Given the description of an element on the screen output the (x, y) to click on. 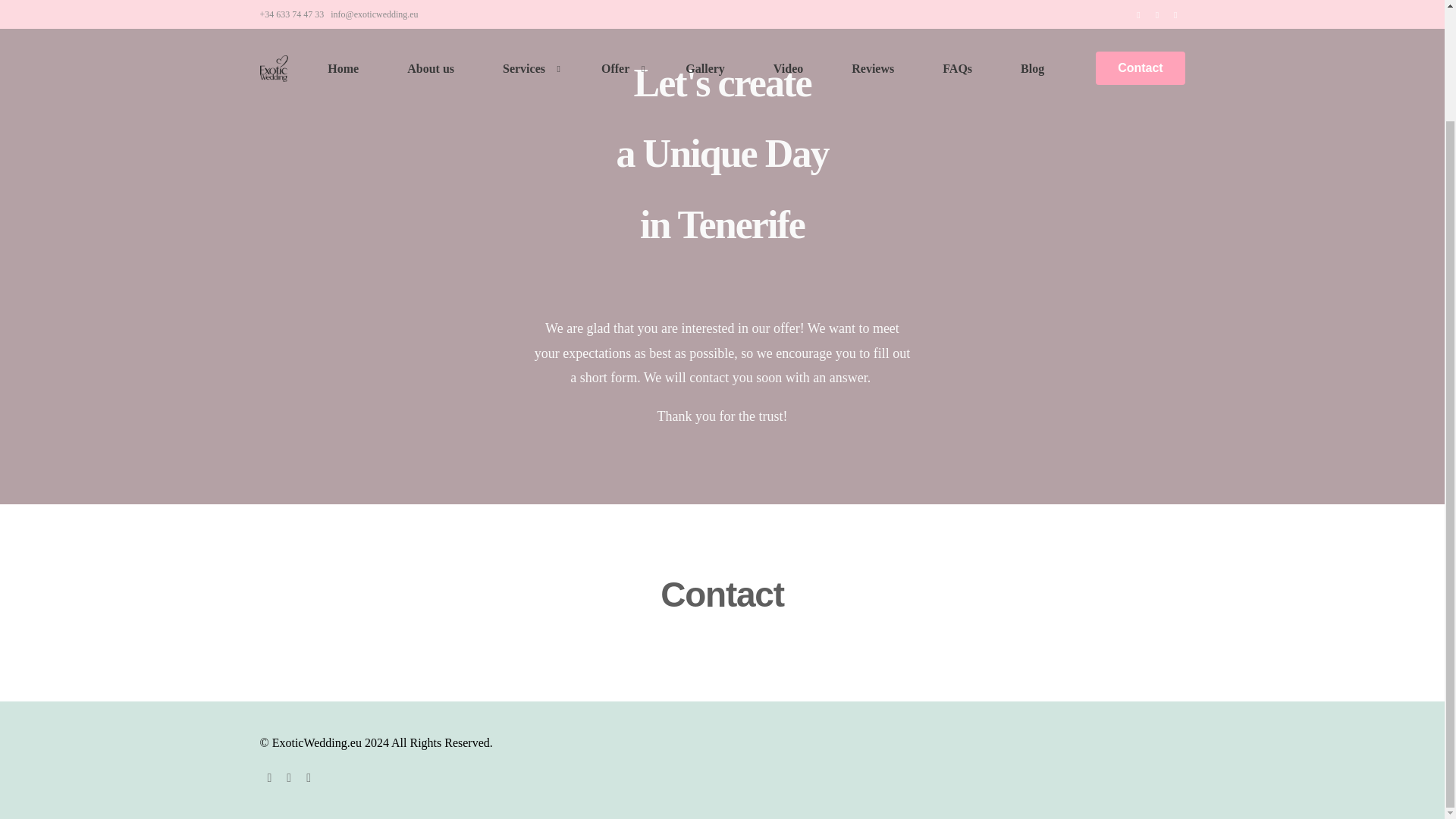
Services (527, 1)
Blog (1031, 1)
Home (342, 1)
Gallery (705, 1)
About us (430, 1)
FAQs (956, 1)
Reviews (872, 1)
Video (788, 1)
Offer (618, 1)
